Given the description of an element on the screen output the (x, y) to click on. 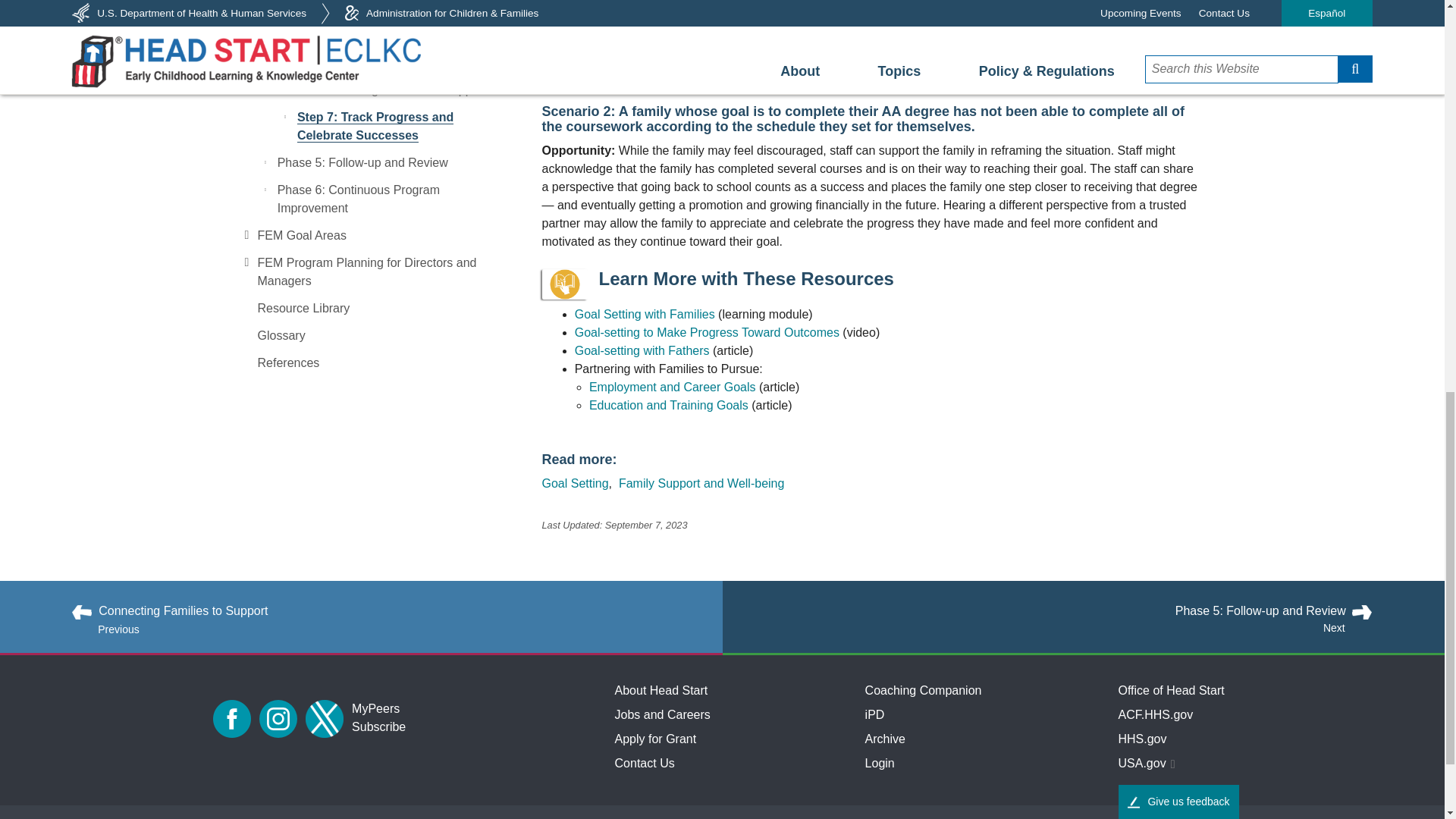
Go to the webpage (644, 314)
Go to next page (1072, 610)
Go to previous page (372, 610)
Go to the webpage (642, 350)
View all Family Support and Well-being related content (701, 482)
Go to Twitter (324, 718)
MyPeers (375, 709)
Go to Instagram (278, 718)
Go to Facebook (231, 718)
Go to the webpage (672, 386)
Go to the webpage (670, 404)
Go to the webpage (709, 332)
